Given the description of an element on the screen output the (x, y) to click on. 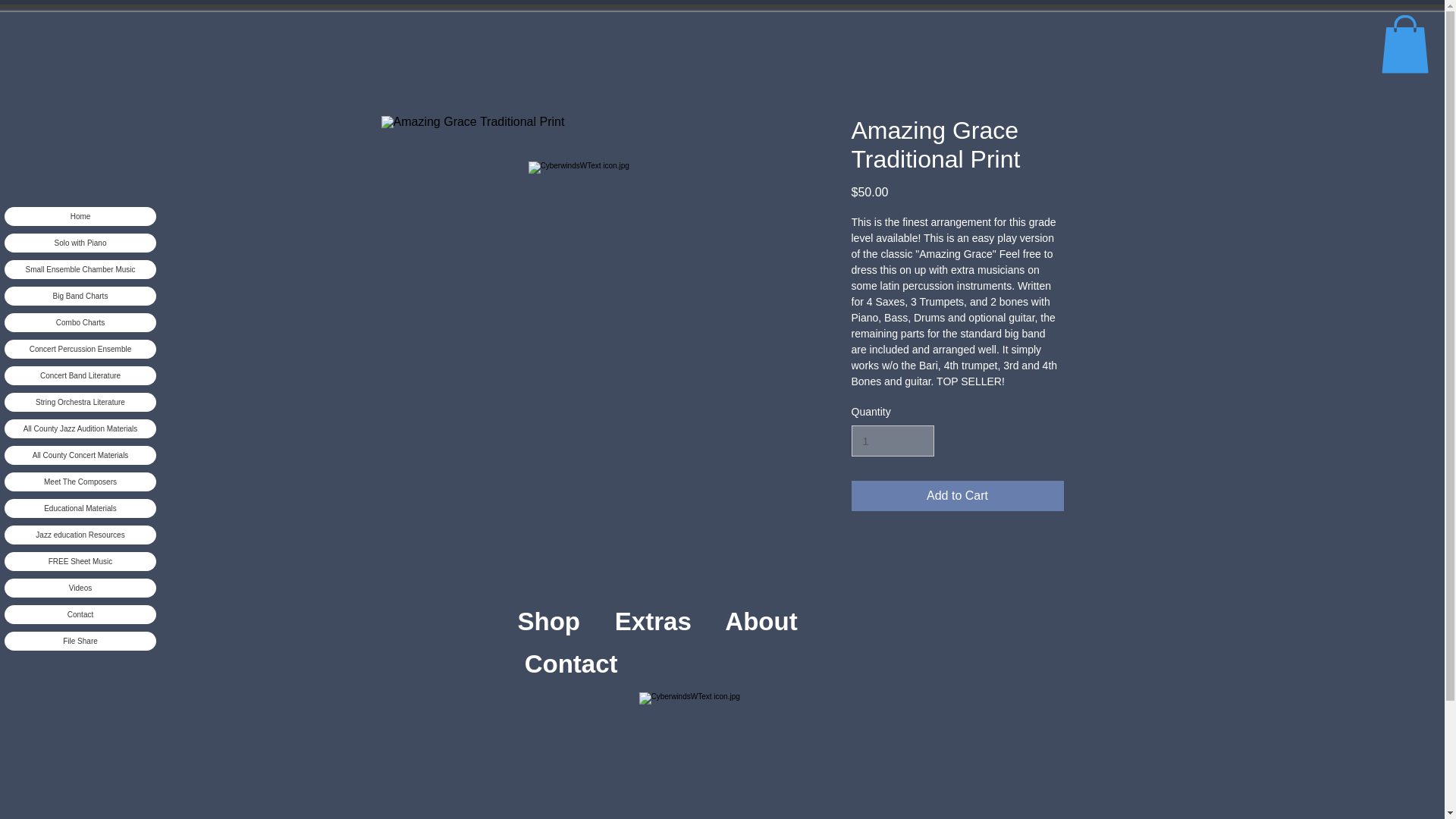
Combo Charts (79, 321)
Educational Materials (79, 507)
Meet The Composers (79, 480)
String Orchestra Literature (79, 402)
Jazz education Resources (79, 533)
About      (667, 642)
All County Concert Materials (79, 455)
Videos (79, 587)
File Share (79, 640)
Big Band Charts (79, 295)
